Given the description of an element on the screen output the (x, y) to click on. 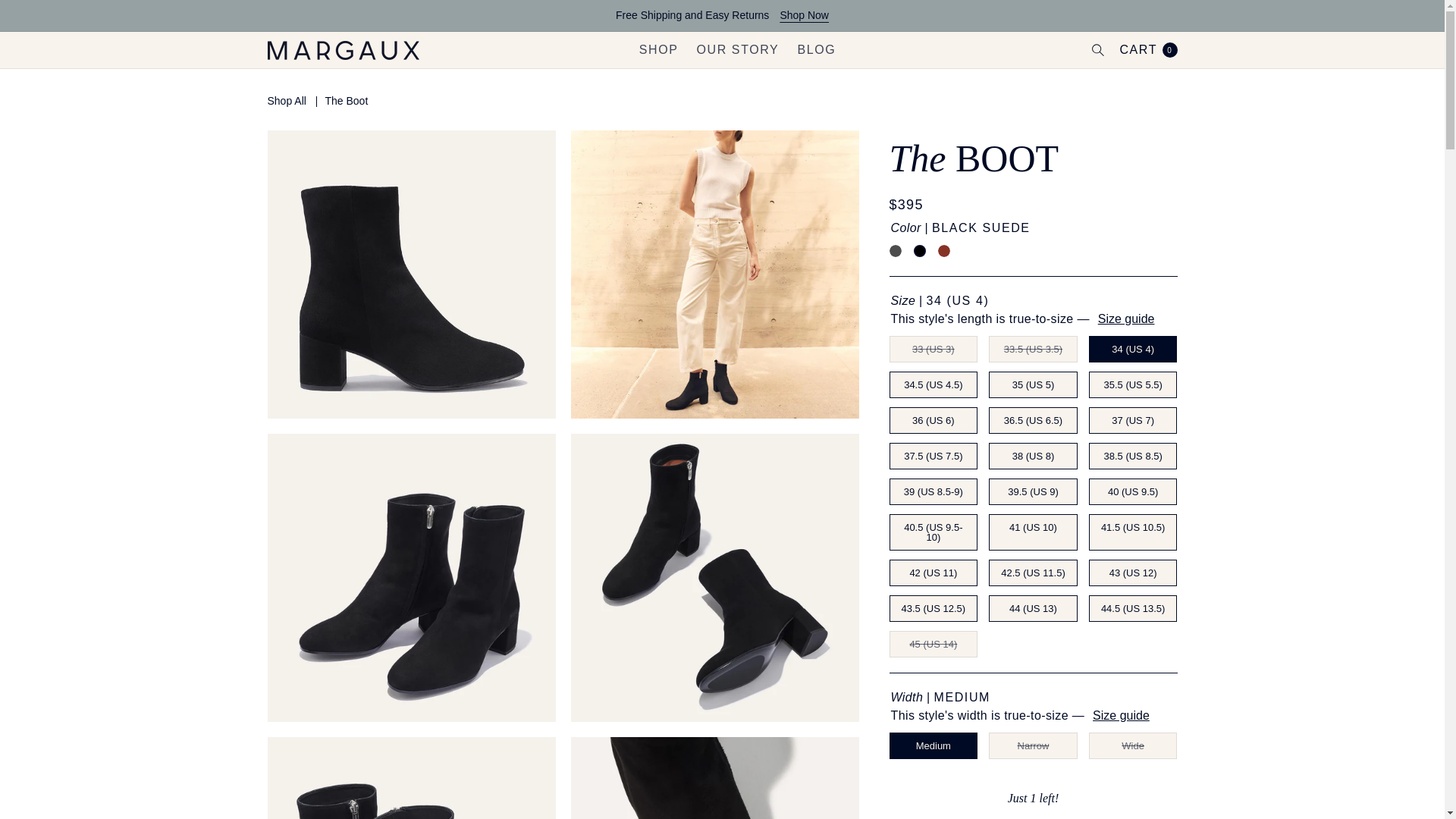
The Boot - Black Suede (918, 250)
The Boot - Brandy Suede (943, 250)
The Boot - Black Calf (894, 250)
SKIP TO CONTENT (46, 11)
